Given the description of an element on the screen output the (x, y) to click on. 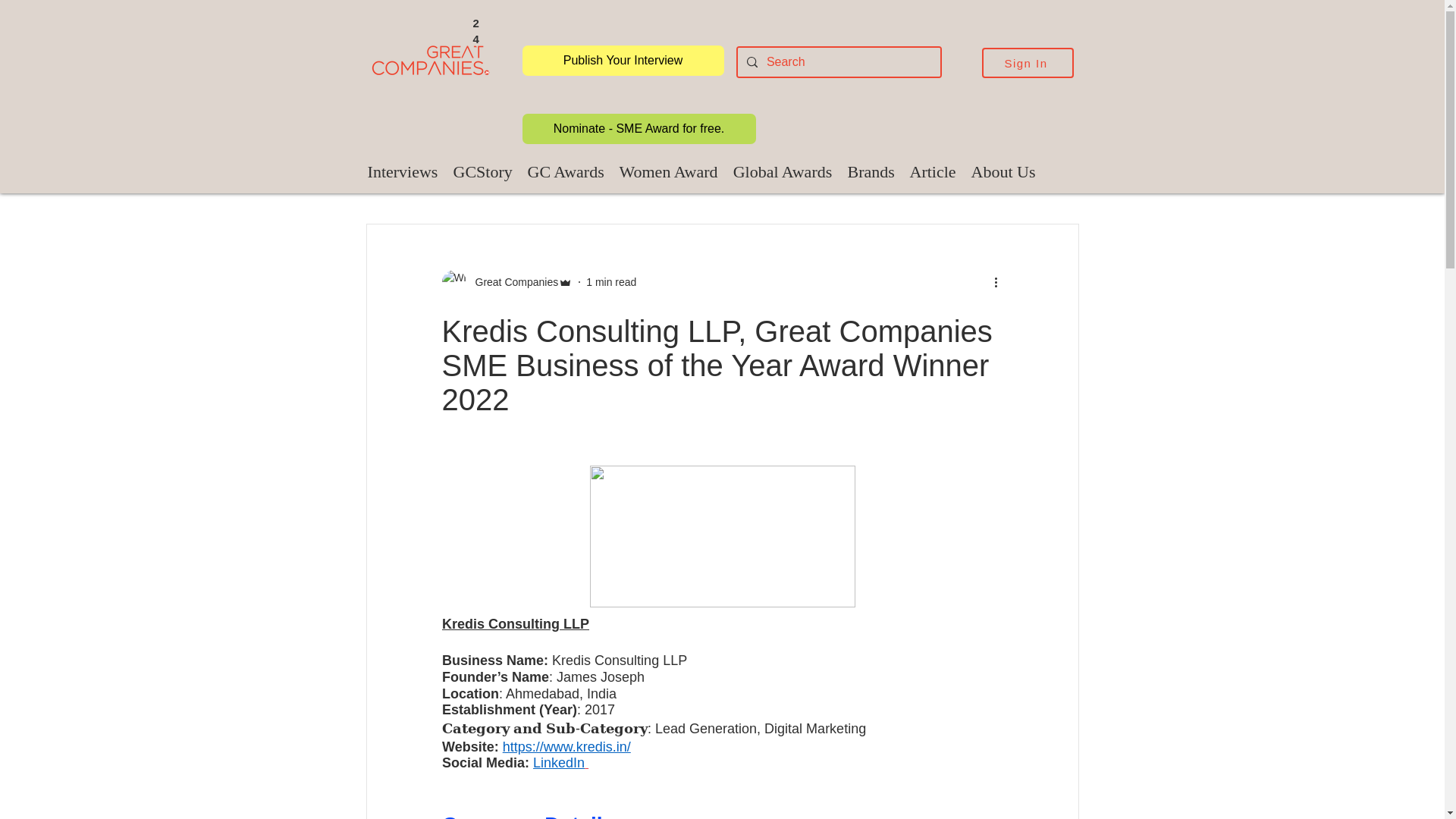
GCStory (482, 171)
1 min read (611, 282)
LinkedIn (558, 762)
Sign In (1027, 62)
Publish Your Interview (622, 60)
Nominate - SME Award for free. (638, 128)
Interviews (402, 171)
Great Companies (511, 282)
Brands (871, 171)
GC Awards (565, 171)
About Us (1002, 171)
Article (932, 171)
Global Awards (782, 171)
Women Award (668, 171)
